Given the description of an element on the screen output the (x, y) to click on. 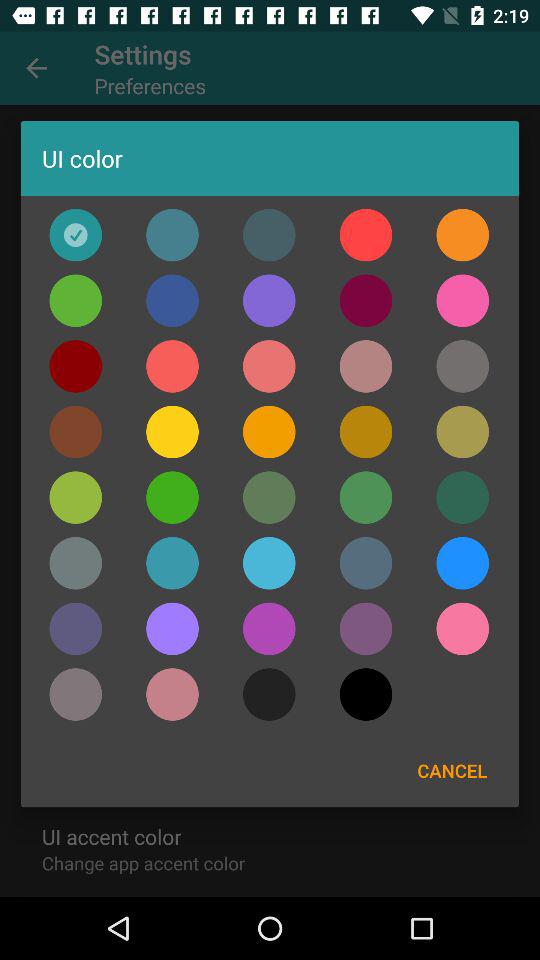
change the color (365, 366)
